Given the description of an element on the screen output the (x, y) to click on. 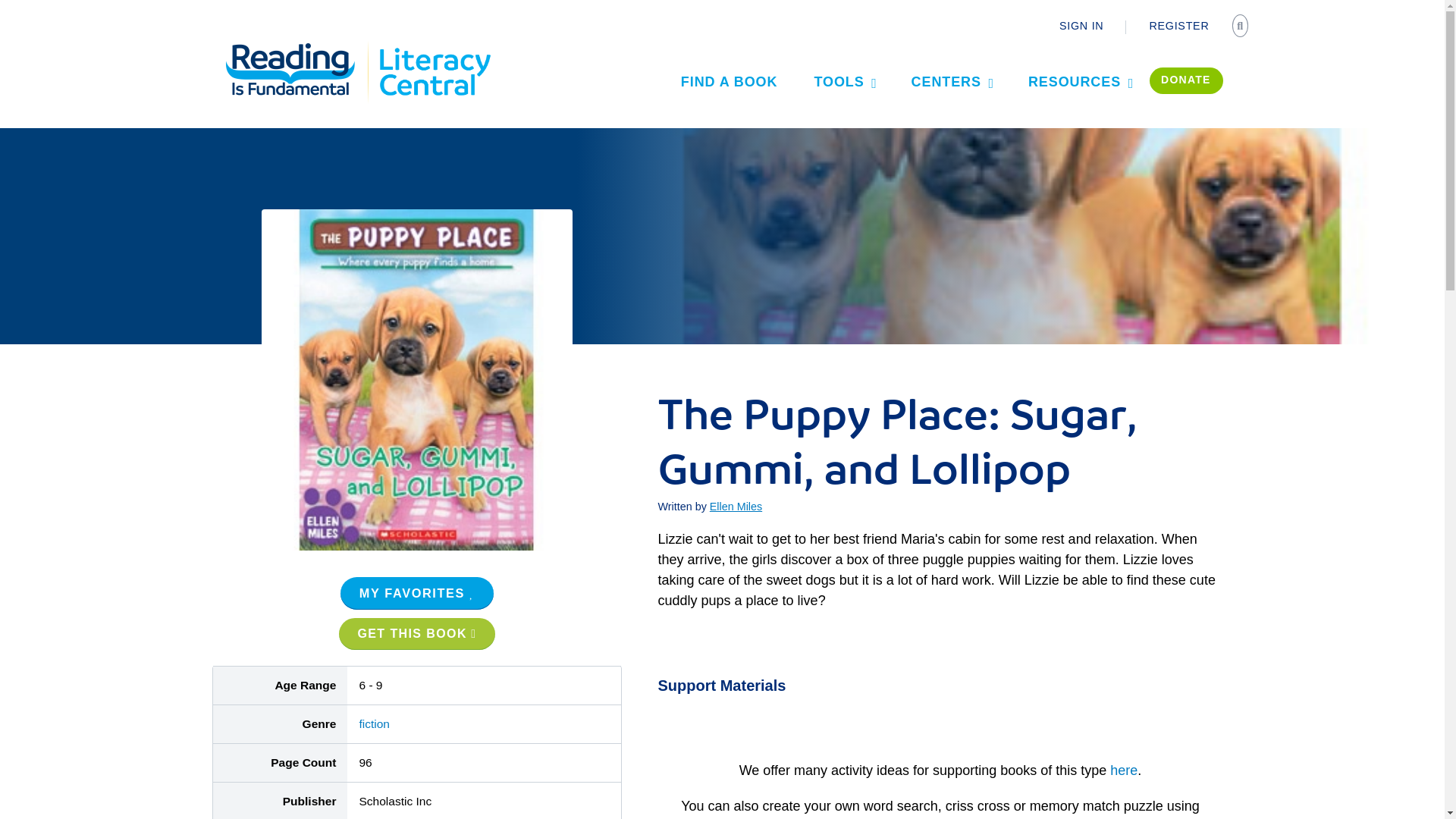
SIGN IN (1081, 26)
SEARCH (1242, 26)
TOOLS (843, 81)
Home (299, 47)
CENTERS (951, 81)
FIND A BOOK (729, 81)
REGISTER (1178, 26)
DONATE (1186, 80)
Literacy Central Home (433, 47)
RESOURCES (1080, 81)
